Given the description of an element on the screen output the (x, y) to click on. 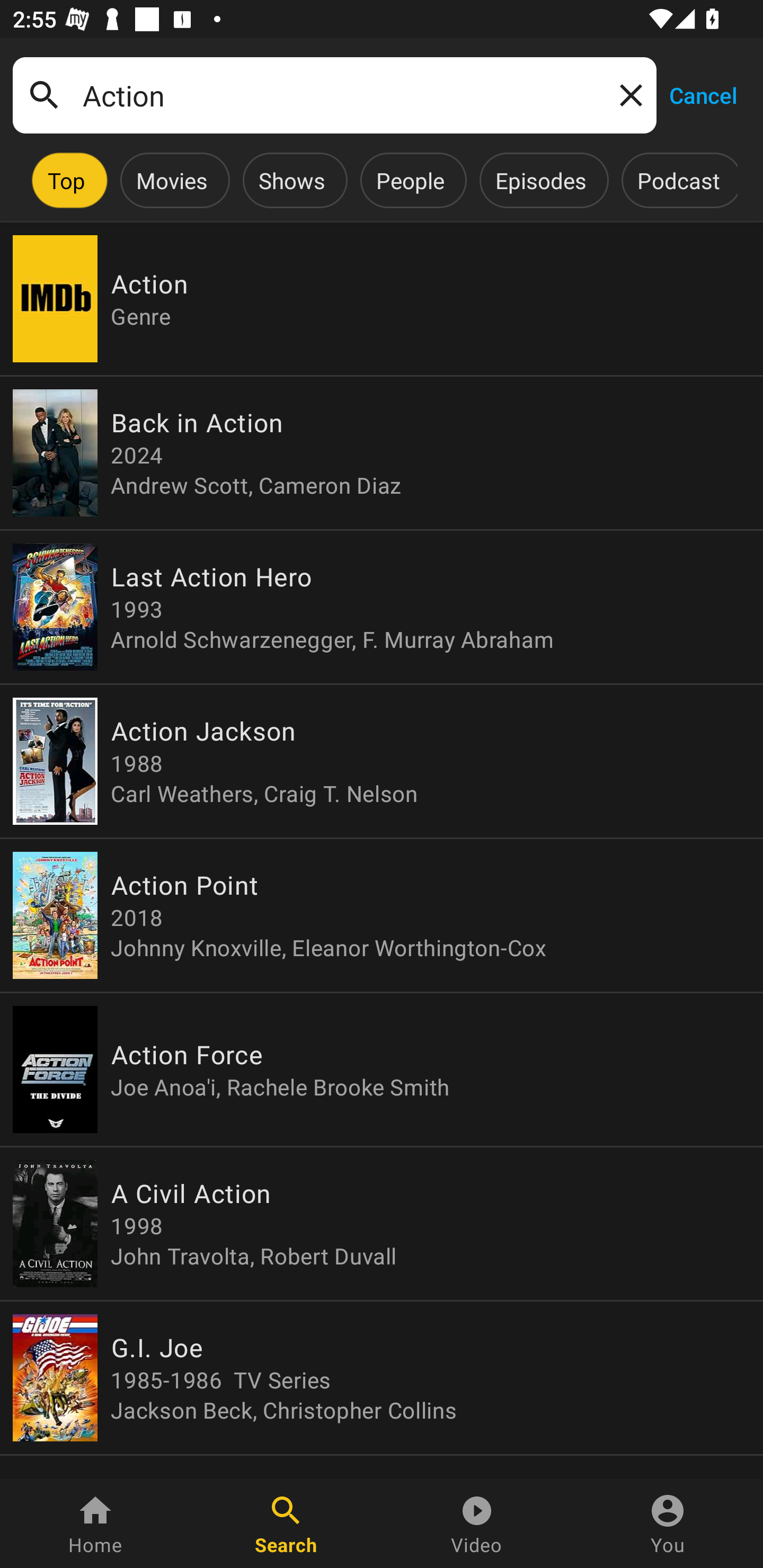
Clear query (627, 94)
Cancel (703, 94)
Action (334, 95)
Top (66, 180)
Movies (171, 180)
Shows (291, 180)
People (410, 180)
Episodes (540, 180)
Podcast (678, 180)
Action Genre (381, 298)
Back in Action 2024 Andrew Scott, Cameron Diaz (381, 452)
Action Jackson 1988 Carl Weathers, Craig T. Nelson (381, 761)
Action Force Joe Anoa'i, Rachele Brooke Smith (381, 1069)
A Civil Action 1998 John Travolta, Robert Duvall (381, 1223)
Home (95, 1523)
Video (476, 1523)
You (667, 1523)
